Given the description of an element on the screen output the (x, y) to click on. 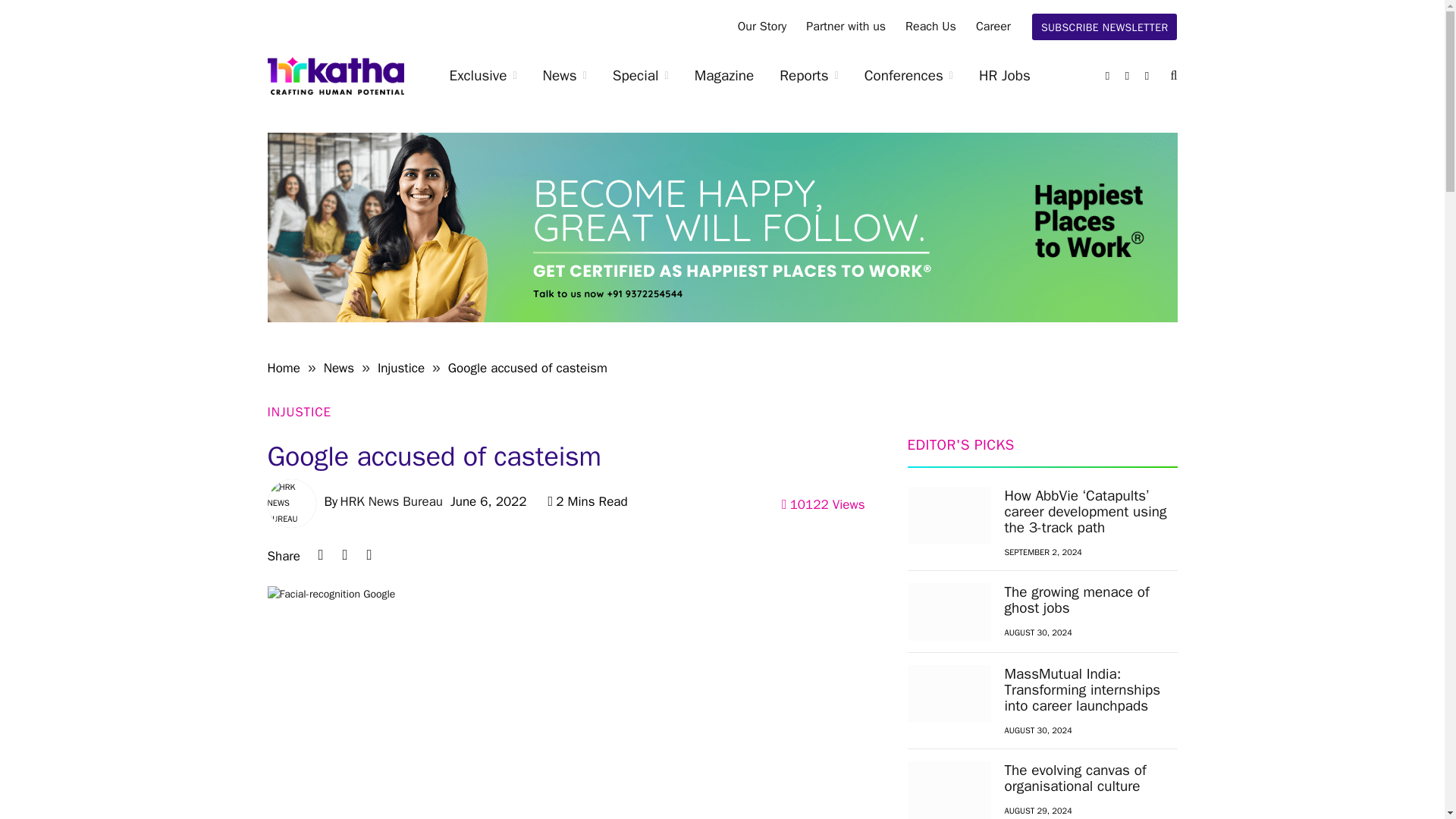
Career (993, 26)
Special (640, 75)
HR Katha (334, 76)
Partner with us (845, 26)
Exclusive (482, 75)
Reach Us (930, 26)
News (564, 75)
Share on Facebook (369, 554)
Posts by HRK News Bureau (390, 501)
